Given the description of an element on the screen output the (x, y) to click on. 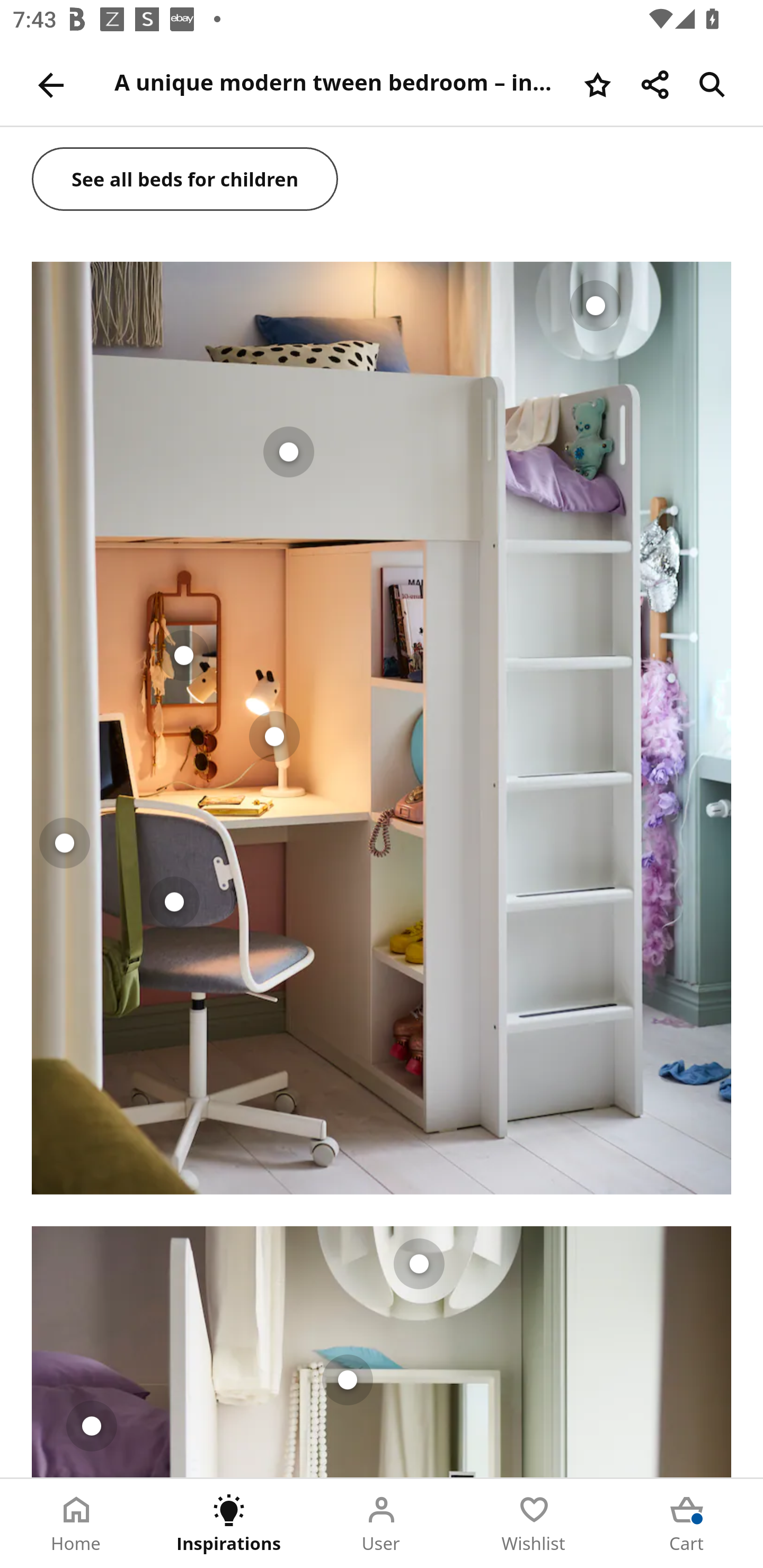
See all beds for children (185, 180)
Home
Tab 1 of 5 (76, 1522)
Inspirations
Tab 2 of 5 (228, 1522)
User
Tab 3 of 5 (381, 1522)
Wishlist
Tab 4 of 5 (533, 1522)
Cart
Tab 5 of 5 (686, 1522)
